Given the description of an element on the screen output the (x, y) to click on. 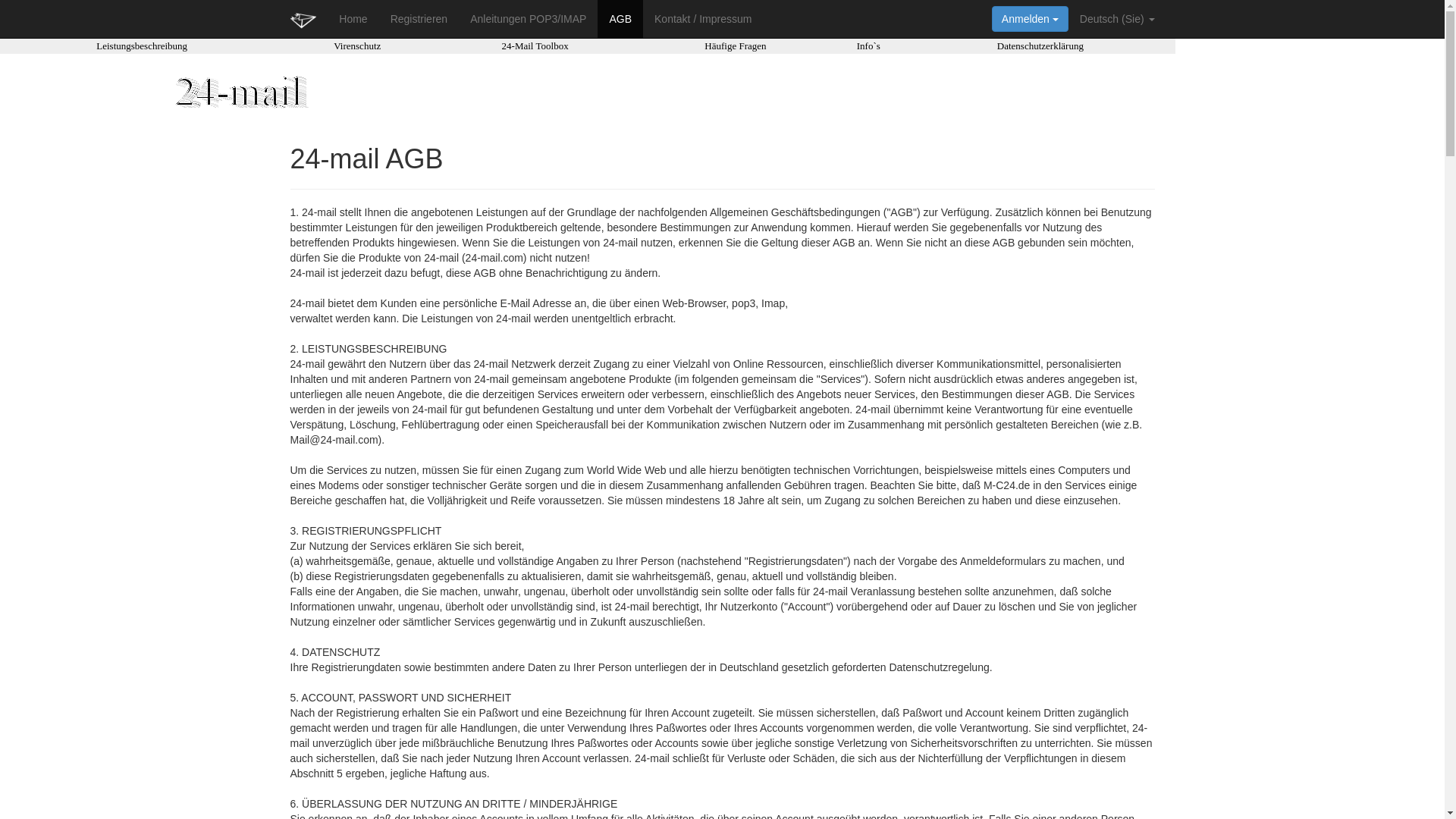
Anmelden Element type: text (1029, 18)
Registrieren Element type: text (418, 18)
Home Element type: text (352, 18)
Info`s Element type: text (868, 45)
Anleitungen POP3/IMAP Element type: text (527, 18)
Virenschutz Element type: text (356, 45)
Leistungsbeschreibung Element type: text (141, 45)
24-Mail Toolbox Element type: text (535, 45)
Deutsch (Sie) Element type: text (1117, 18)
AGB Element type: text (620, 18)
Kontakt / Impressum Element type: text (702, 18)
